Given the description of an element on the screen output the (x, y) to click on. 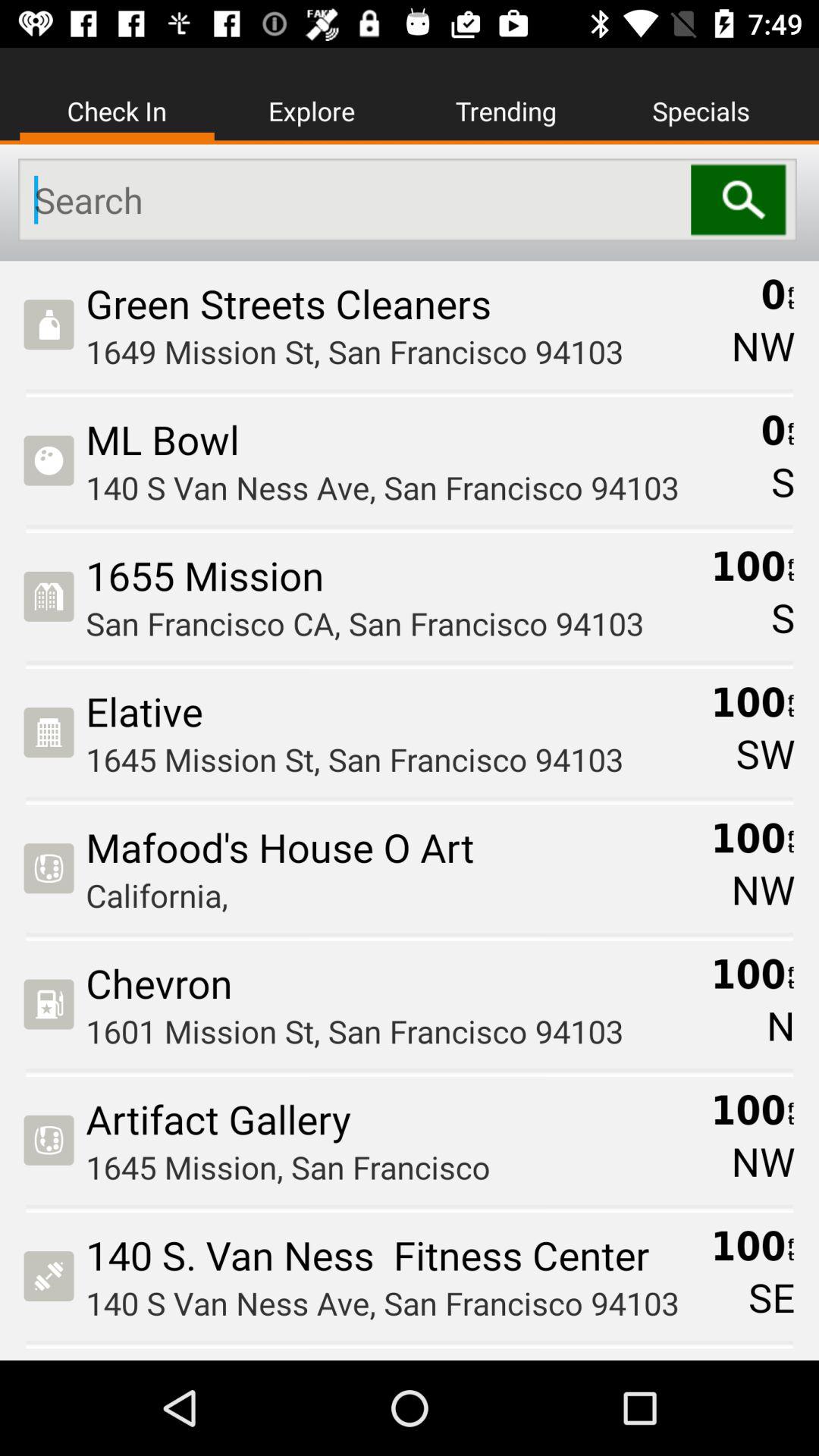
turn on the california,   icon (392, 894)
